Given the description of an element on the screen output the (x, y) to click on. 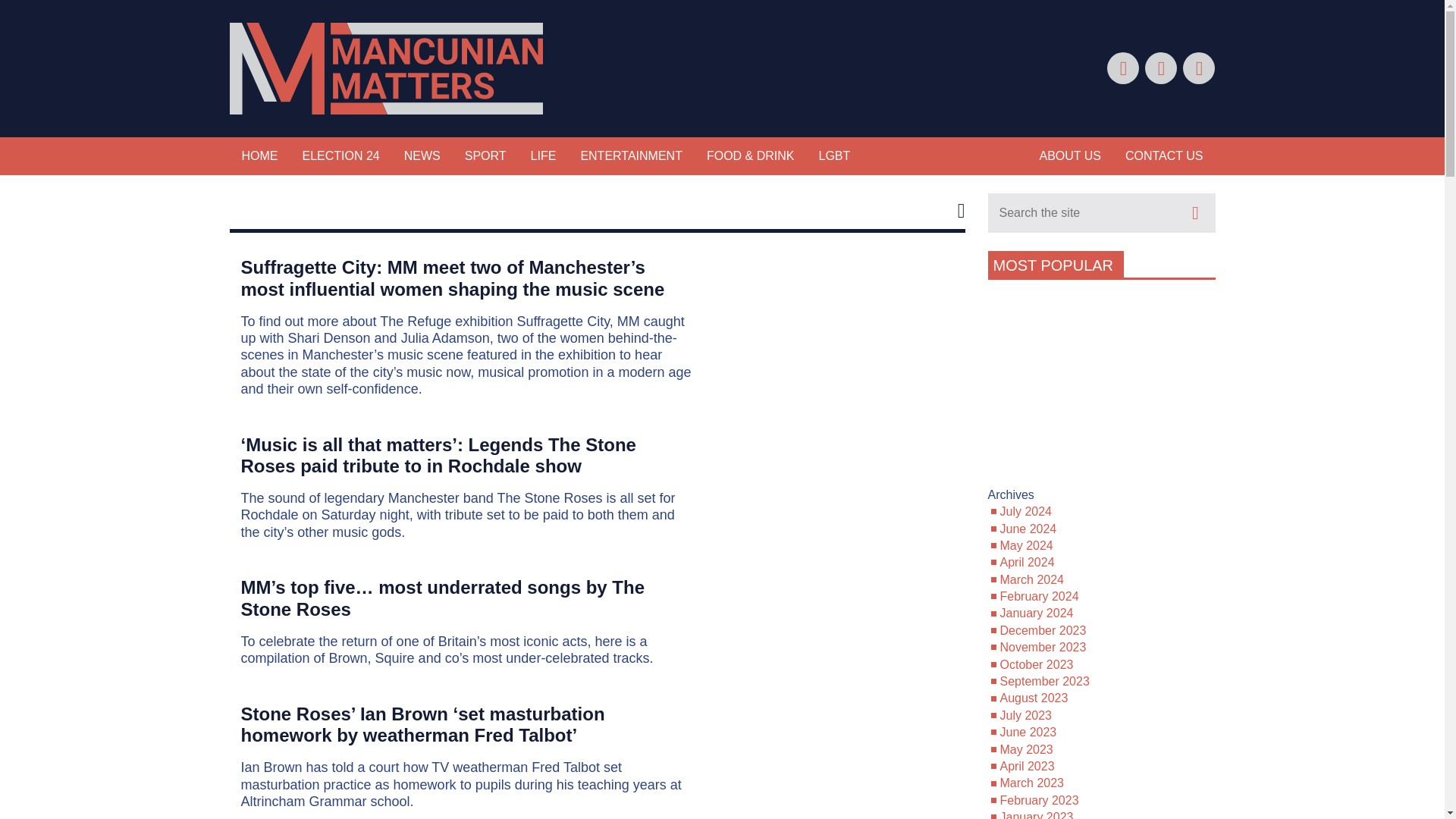
LIFE (543, 156)
HOME (258, 156)
Facebook (1122, 68)
Twitter (1160, 68)
June 2024 (1027, 528)
Life (543, 156)
April 2024 (1026, 562)
January 2024 (1035, 612)
ABOUT US (1069, 156)
Entertainment (630, 156)
SPORT (485, 156)
March 2024 (1031, 579)
ENTERTAINMENT (630, 156)
YoutTube (1198, 68)
LGBT (833, 156)
